Given the description of an element on the screen output the (x, y) to click on. 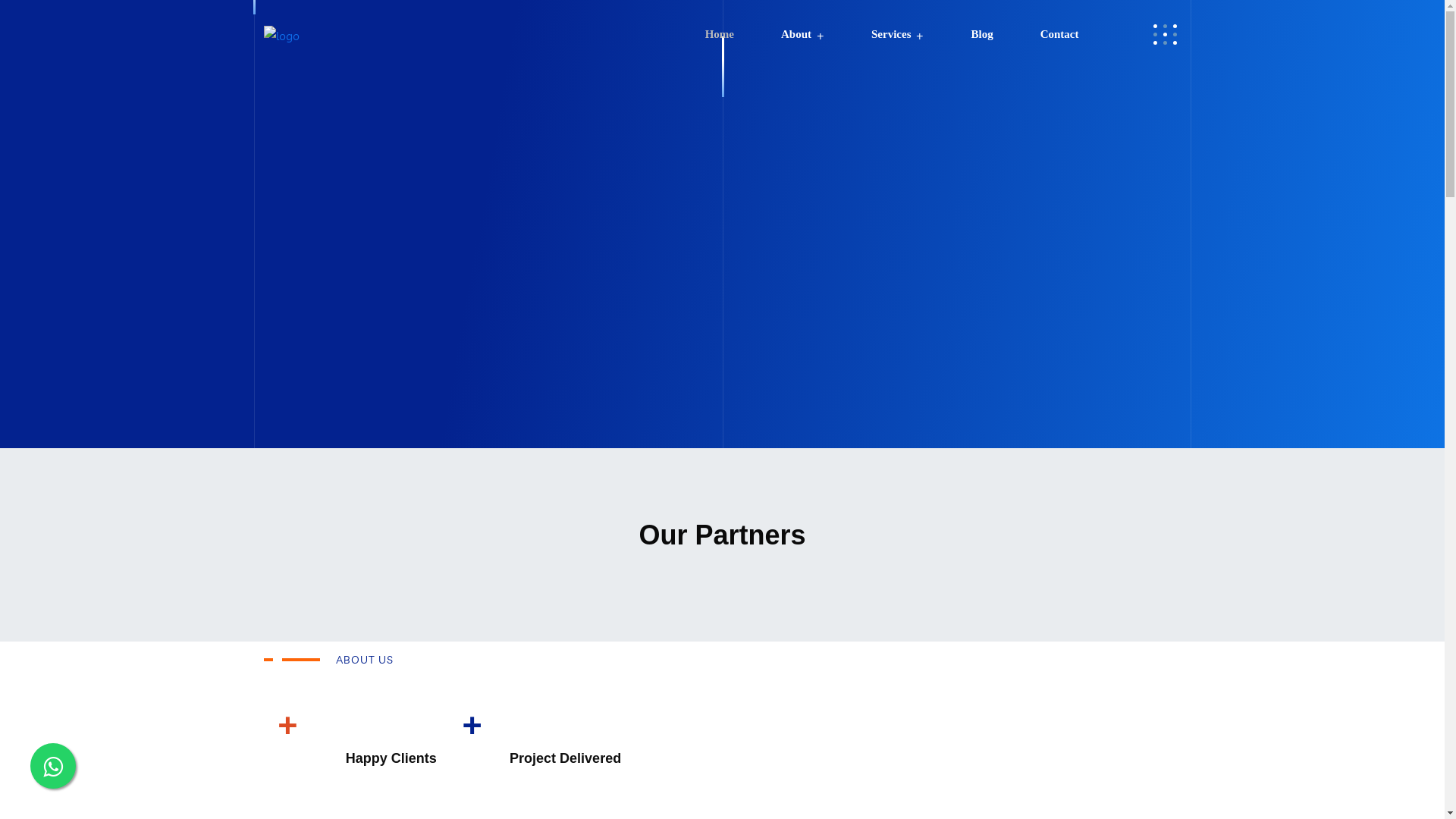
Contact Element type: text (1059, 34)
Blog Element type: text (981, 34)
Services Element type: text (897, 34)
Home Element type: text (719, 34)
About Element type: text (802, 34)
